Given the description of an element on the screen output the (x, y) to click on. 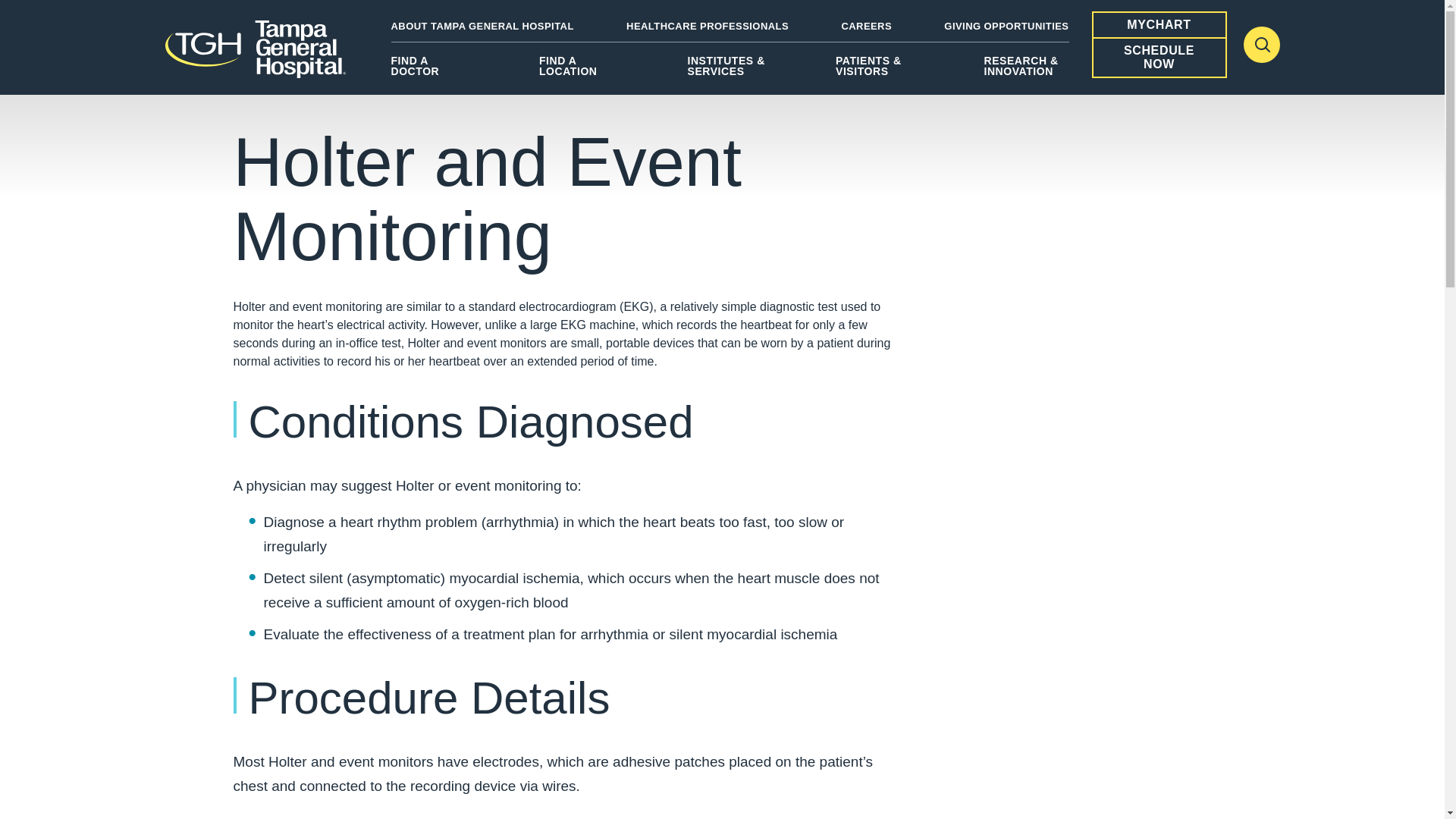
ABOUT TAMPA GENERAL HOSPITAL (482, 25)
MYCHART (1159, 24)
FIND A DOCTOR (433, 71)
SCHEDULE NOW (1159, 57)
CAREERS (866, 25)
Toggle Main Search (1261, 44)
FIND A LOCATION (581, 71)
GIVING OPPORTUNITIES (1005, 25)
HEALTHCARE PROFESSIONALS (707, 25)
